Given the description of an element on the screen output the (x, y) to click on. 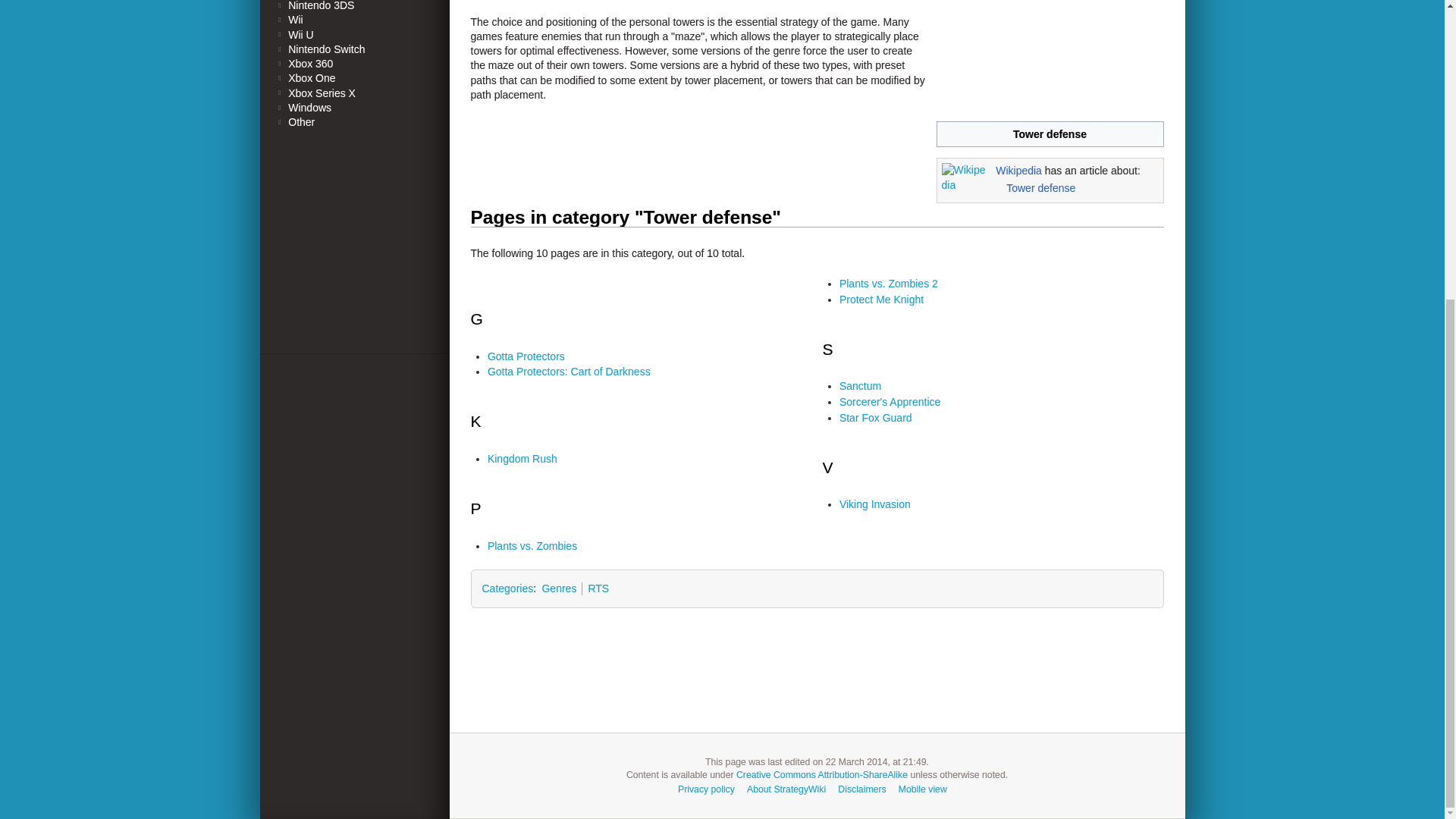
RTS (598, 588)
Viking Invasion (875, 503)
Plants vs. Zombies (531, 545)
Creative Commons Attribution-ShareAlike (821, 774)
Privacy policy (706, 788)
Categories (507, 588)
Star Fox Guard (876, 417)
Wikipedia (965, 176)
Plants vs. Zombies 2 (888, 283)
Wikipedia (1018, 170)
